Given the description of an element on the screen output the (x, y) to click on. 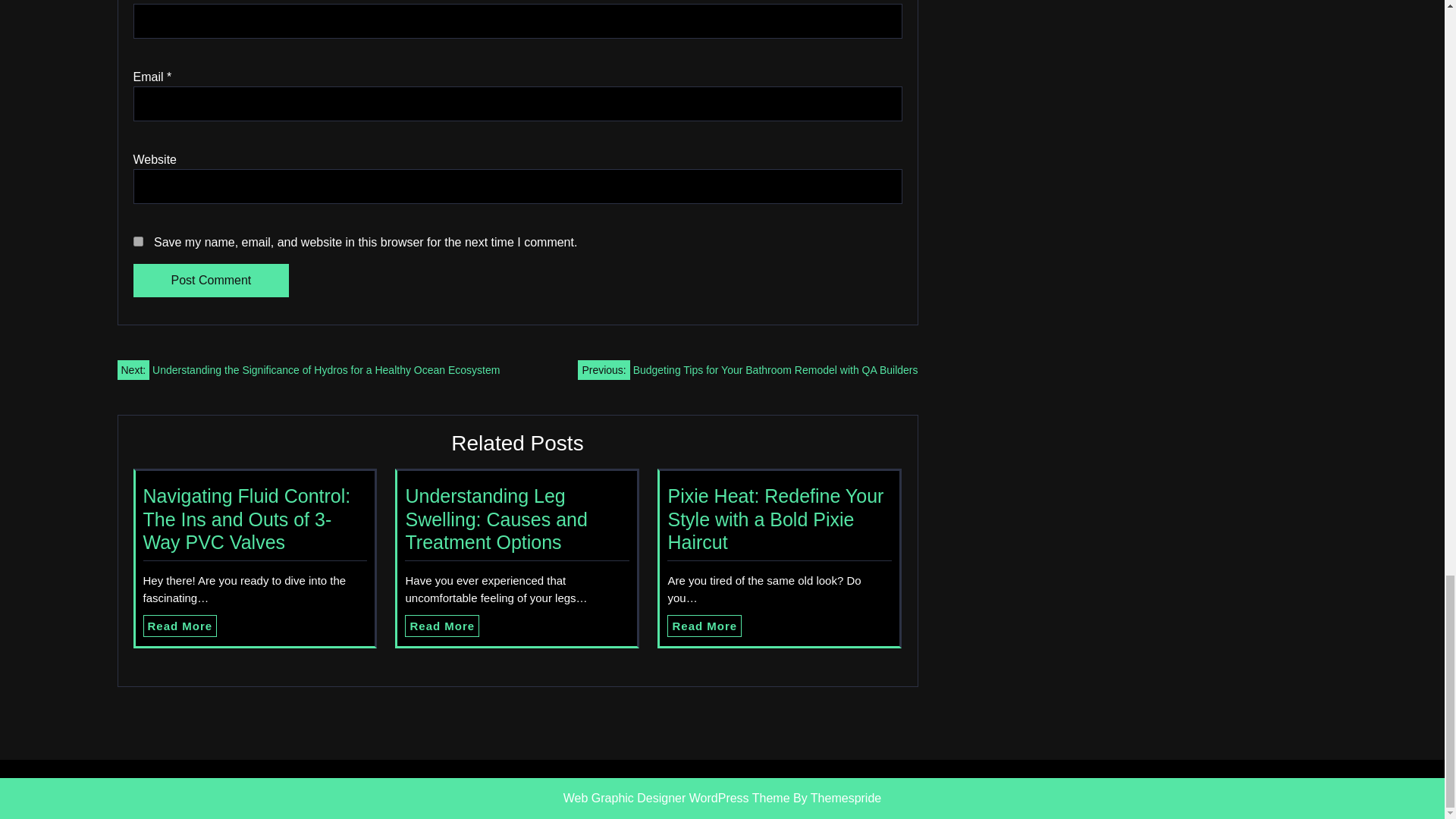
Web Graphic Designer WordPress Theme (676, 797)
Read More (703, 626)
Read More (179, 626)
Post Comment (211, 280)
Read More (441, 626)
Read More (441, 626)
Pixie Heat: Redefine Your Style with a Bold Pixie Haircut (774, 519)
Understanding Leg Swelling: Causes and Treatment Options (495, 519)
yes (137, 241)
Understanding Leg Swelling: Causes and Treatment Options (495, 519)
Post Comment (211, 280)
Read More (703, 626)
